Given the description of an element on the screen output the (x, y) to click on. 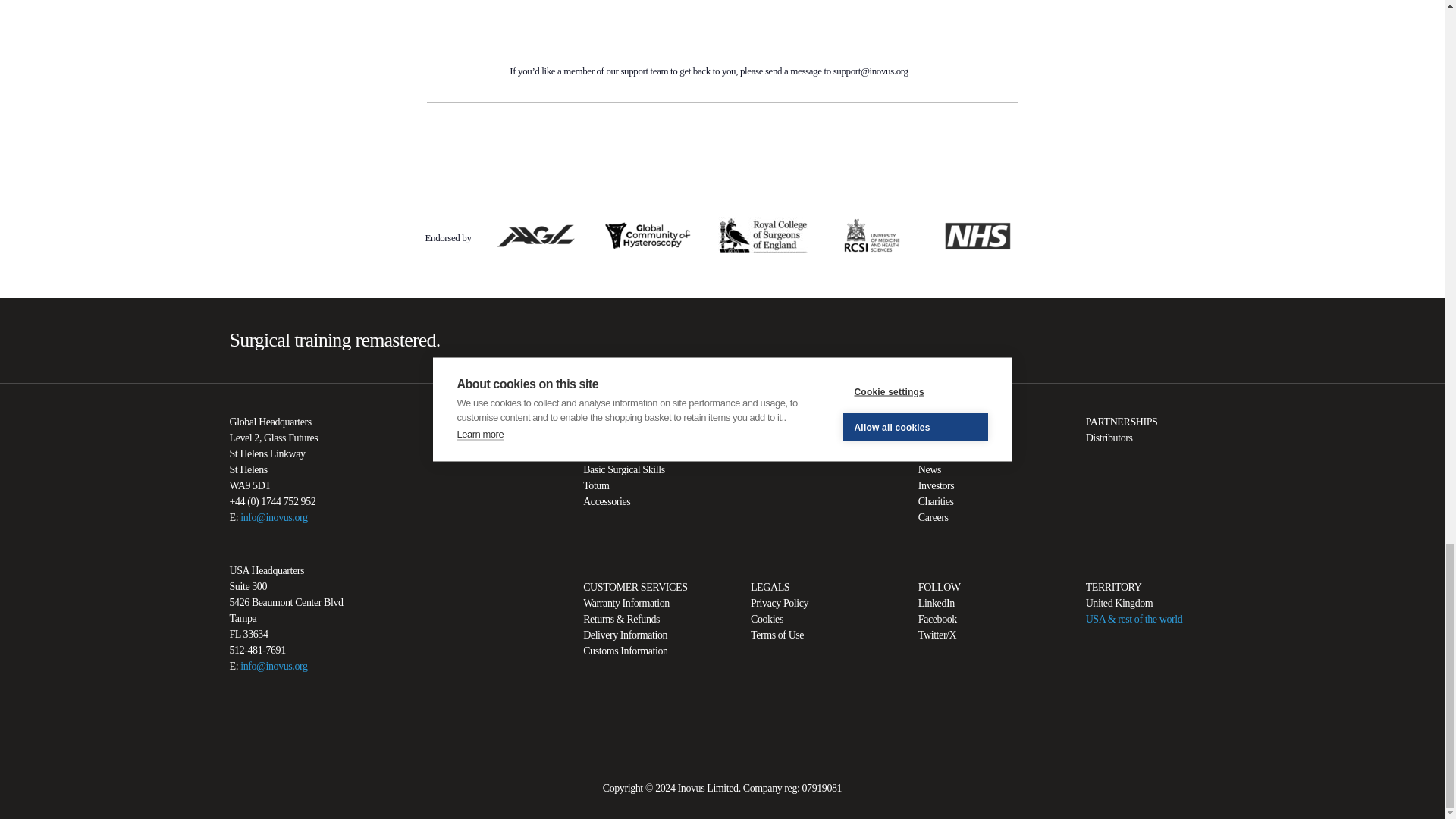
Warranty Information (626, 603)
Accessories (606, 501)
About (930, 437)
Investors (936, 485)
Laparoscopic Simulators (632, 437)
Contact (933, 453)
Basic Surgical Skills (624, 469)
Distributors (1109, 437)
Hysteroscopic Simulators (633, 453)
Careers (933, 517)
